Given the description of an element on the screen output the (x, y) to click on. 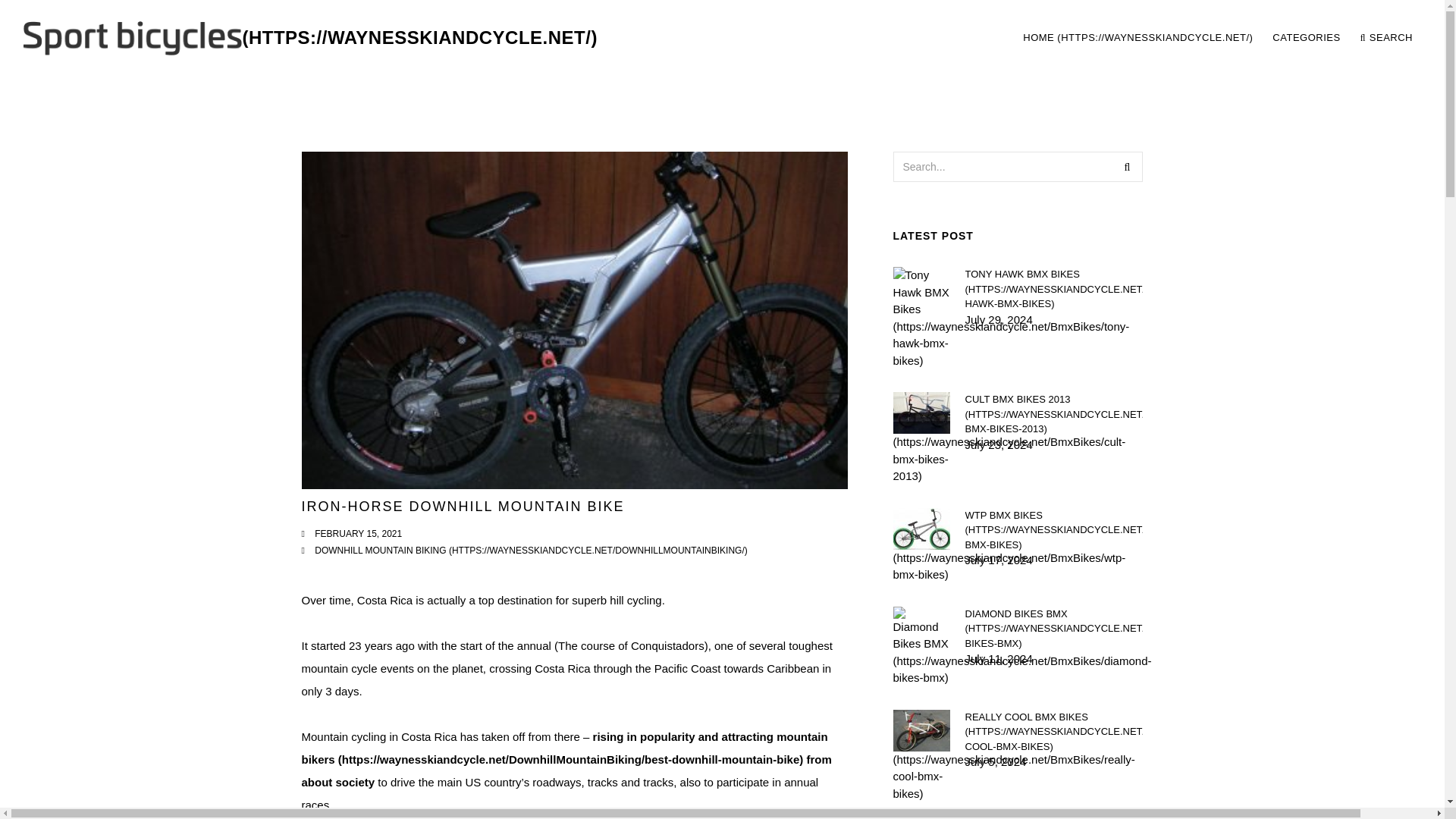
DIAMOND BIKES BMX (1052, 628)
Best downhill Mountain bike (564, 747)
mountain bikers (564, 747)
SEARCH (1386, 38)
WTP BMX BIKES (1052, 529)
CATEGORIES (1306, 38)
CULT BMX BIKES 2013 (1052, 414)
Search (1126, 166)
Sport bicycles (309, 38)
DOWNHILL MOUNTAIN BIKING (531, 550)
HOME (1137, 38)
TONY HAWK BMX BIKES (1052, 289)
